Given the description of an element on the screen output the (x, y) to click on. 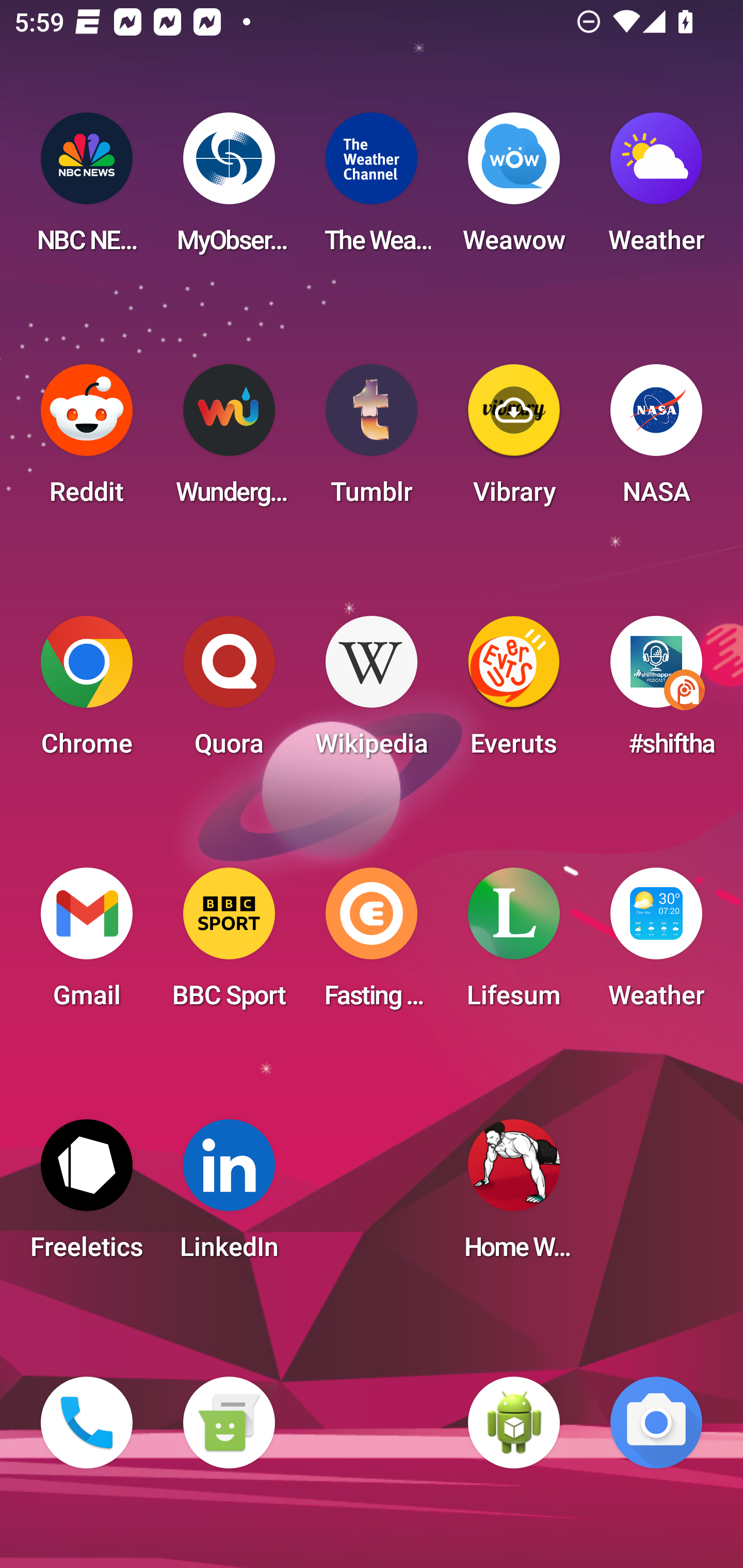
NBC NEWS (86, 188)
MyObservatory (228, 188)
The Weather Channel (371, 188)
Weawow (513, 188)
Weather (656, 188)
Reddit (86, 440)
Wunderground (228, 440)
Tumblr (371, 440)
Vibrary (513, 440)
NASA (656, 440)
Chrome (86, 692)
Quora (228, 692)
Wikipedia (371, 692)
Everuts (513, 692)
#shifthappens in the Digital Workplace Podcast (656, 692)
Gmail (86, 943)
BBC Sport (228, 943)
Fasting Coach (371, 943)
Lifesum (513, 943)
Weather (656, 943)
Freeletics (86, 1195)
LinkedIn (228, 1195)
Home Workout (513, 1195)
Phone (86, 1422)
Messaging (228, 1422)
WebView Browser Tester (513, 1422)
Camera (656, 1422)
